Given the description of an element on the screen output the (x, y) to click on. 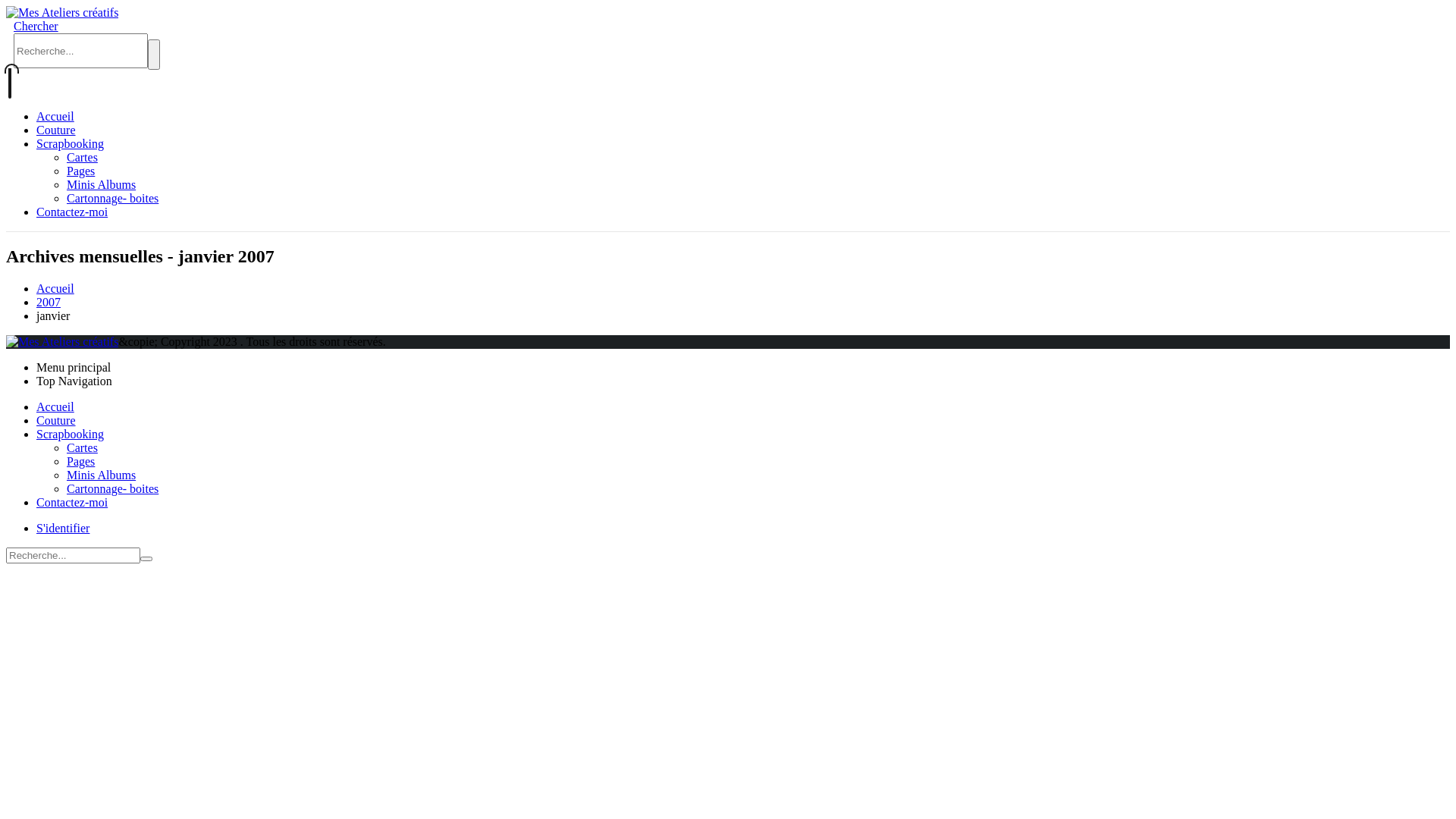
Minis Albums Element type: text (100, 183)
Chercher Element type: text (35, 25)
Cartonnage- boites Element type: text (112, 488)
Scrapbooking Element type: text (69, 433)
Chercher Element type: hover (153, 54)
S'identifier Element type: text (62, 527)
Minis Albums Element type: text (100, 474)
Scrapbooking Element type: text (69, 142)
Couture Element type: text (55, 128)
Accueil Element type: text (55, 115)
Cartes Element type: text (81, 447)
2007 Element type: text (48, 301)
Pages Element type: text (80, 461)
Accueil Element type: text (55, 406)
Pages Element type: text (80, 169)
Chercher Element type: hover (146, 558)
Accueil Element type: text (55, 288)
Contactez-moi Element type: text (71, 210)
Couture Element type: text (55, 420)
Cartonnage- boites Element type: text (112, 197)
Cartes Element type: text (81, 156)
Contactez-moi Element type: text (71, 501)
